Given the description of an element on the screen output the (x, y) to click on. 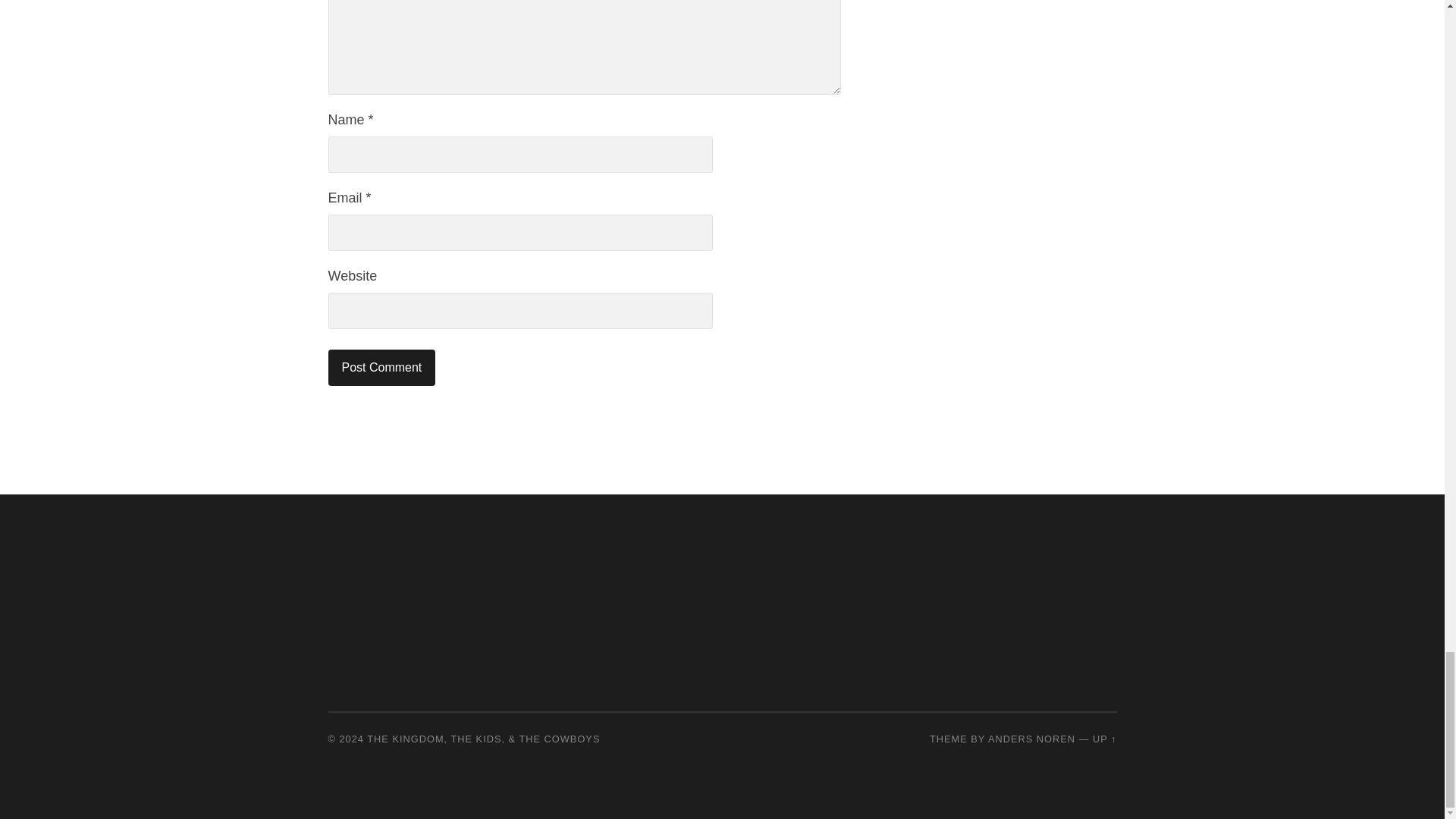
Post Comment (381, 367)
To the top (1104, 738)
Post Comment (381, 367)
